Given the description of an element on the screen output the (x, y) to click on. 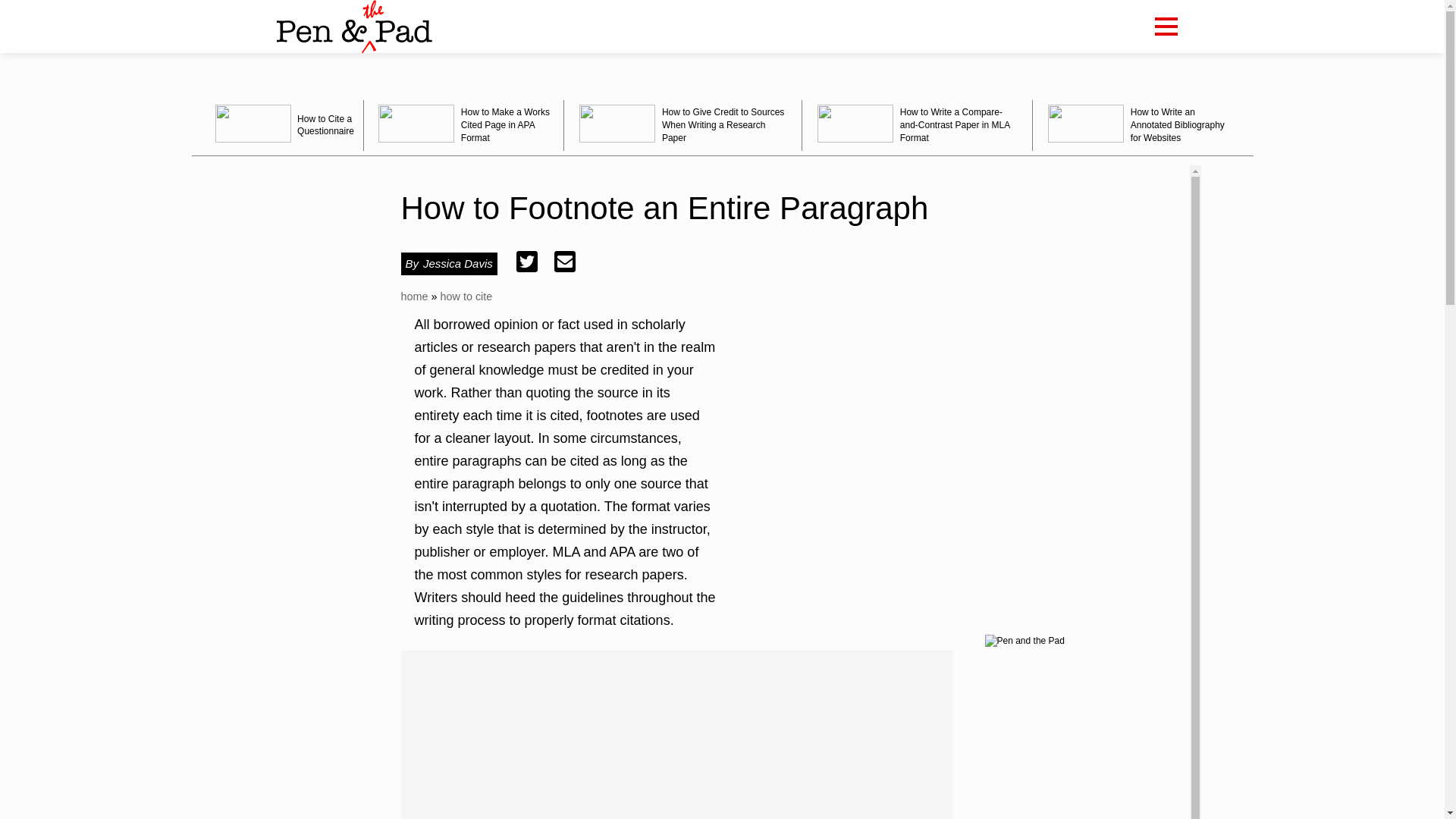
How to Give Credit to Sources When Writing a Research Paper (683, 124)
How to Cite a Questionnaire (281, 124)
how to cite (465, 296)
How to Write a Compare-and-Contrast Paper in MLA Format (917, 124)
How to Make a Works Cited Page in APA Format (464, 124)
home (414, 296)
